Given the description of an element on the screen output the (x, y) to click on. 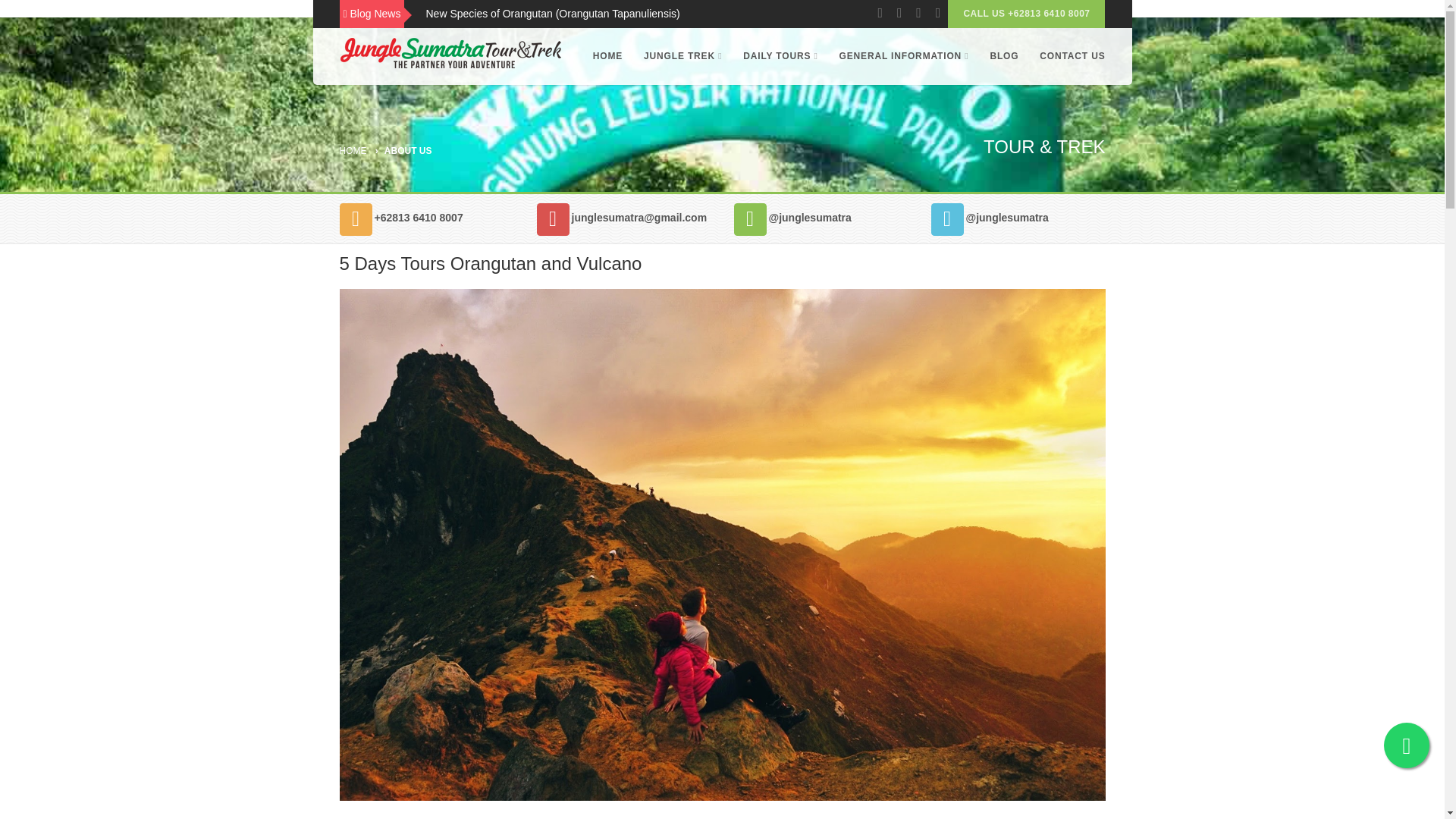
HOME (352, 150)
CONTACT US (1067, 56)
GENERAL INFORMATION (903, 56)
DAILY TOURS (780, 56)
JUNGLE TREK (682, 56)
